Given the description of an element on the screen output the (x, y) to click on. 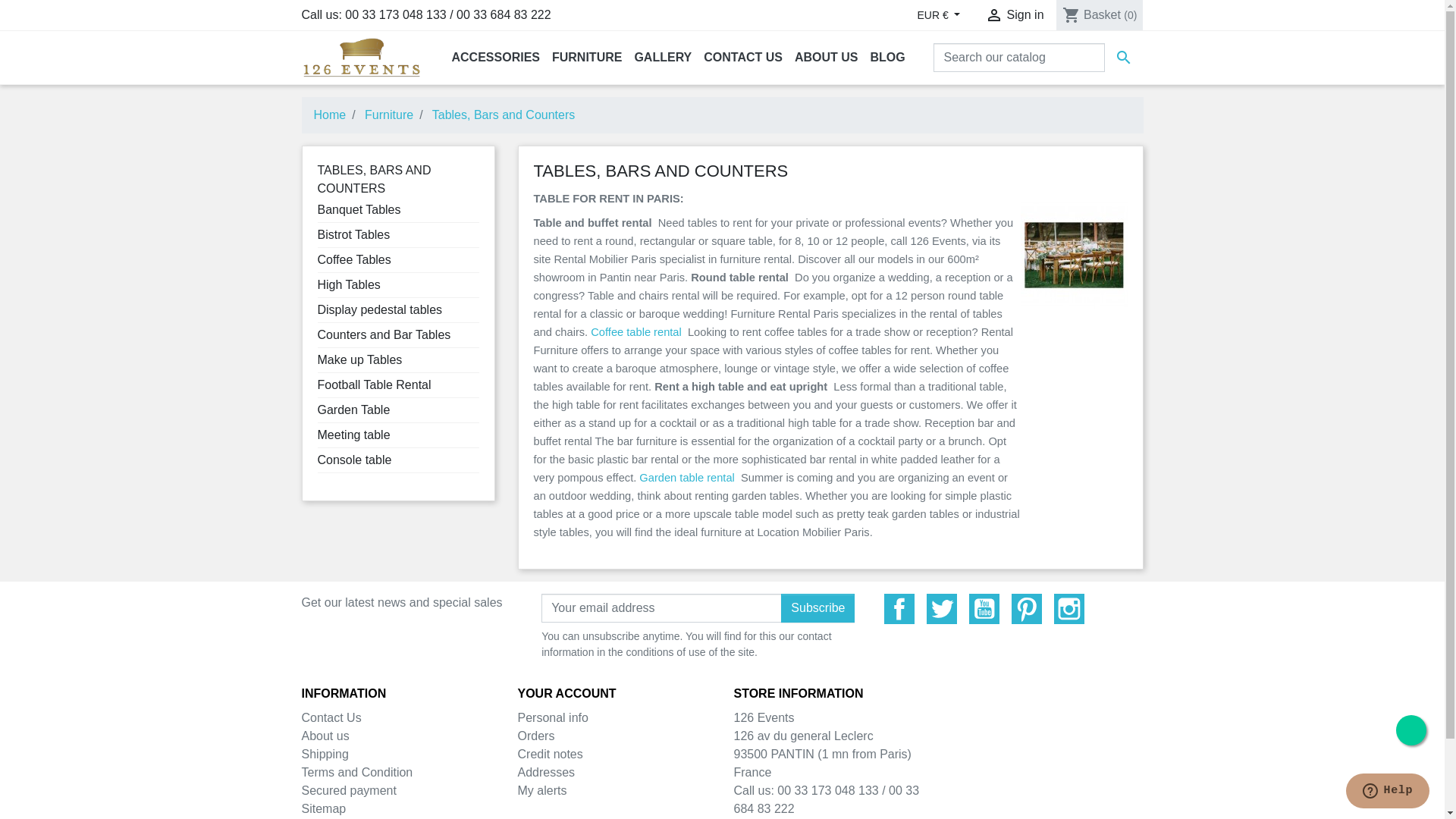
Garden Table Element type: text (352, 409)
YouTube Element type: text (984, 608)
TABLES, BARS AND COUNTERS Element type: text (373, 178)
Personal info Element type: text (552, 717)
Banquet Tables Element type: text (358, 209)
FURNITURE Element type: text (586, 57)
CONTACT US Element type: text (742, 57)
Terms and Condition Element type: text (357, 771)
Twitter Element type: text (941, 608)
Display pedestal tables Element type: text (379, 309)
Make up Tables Element type: text (358, 359)
Pinterest Element type: text (1026, 608)
Sitemap Element type: text (323, 808)
GALLERY Element type: text (662, 57)
Coffee Tables Element type: text (353, 259)
Orders Element type: text (535, 735)
Tables, Bars and Counters Element type: text (503, 114)
Secured payment Element type: text (348, 790)
Credit notes Element type: text (549, 753)
ACCESSORIES Element type: text (495, 57)
Addresses Element type: text (545, 771)
High Tables Element type: text (347, 284)
My alerts Element type: text (541, 790)
Subscribe Element type: text (817, 607)
Bistrot Tables Element type: text (352, 234)
Facebook Element type: text (899, 608)
Furniture Element type: text (388, 114)
Home Element type: text (329, 114)
BLOG Element type: text (887, 57)
ABOUT US Element type: text (826, 57)
About us Element type: text (325, 735)
Console table Element type: text (353, 459)
Opens a widget where you can chat to one of our agents Element type: hover (1387, 792)
Contact Us Element type: text (331, 717)
Shipping Element type: text (324, 753)
Instagram Element type: text (1069, 608)
Garden table rental Element type: text (686, 477)
Coffee table rental Element type: text (635, 332)
Meeting table Element type: text (352, 434)
Counters and Bar Tables Element type: text (383, 334)
Football Table Rental Element type: text (373, 384)
